Given the description of an element on the screen output the (x, y) to click on. 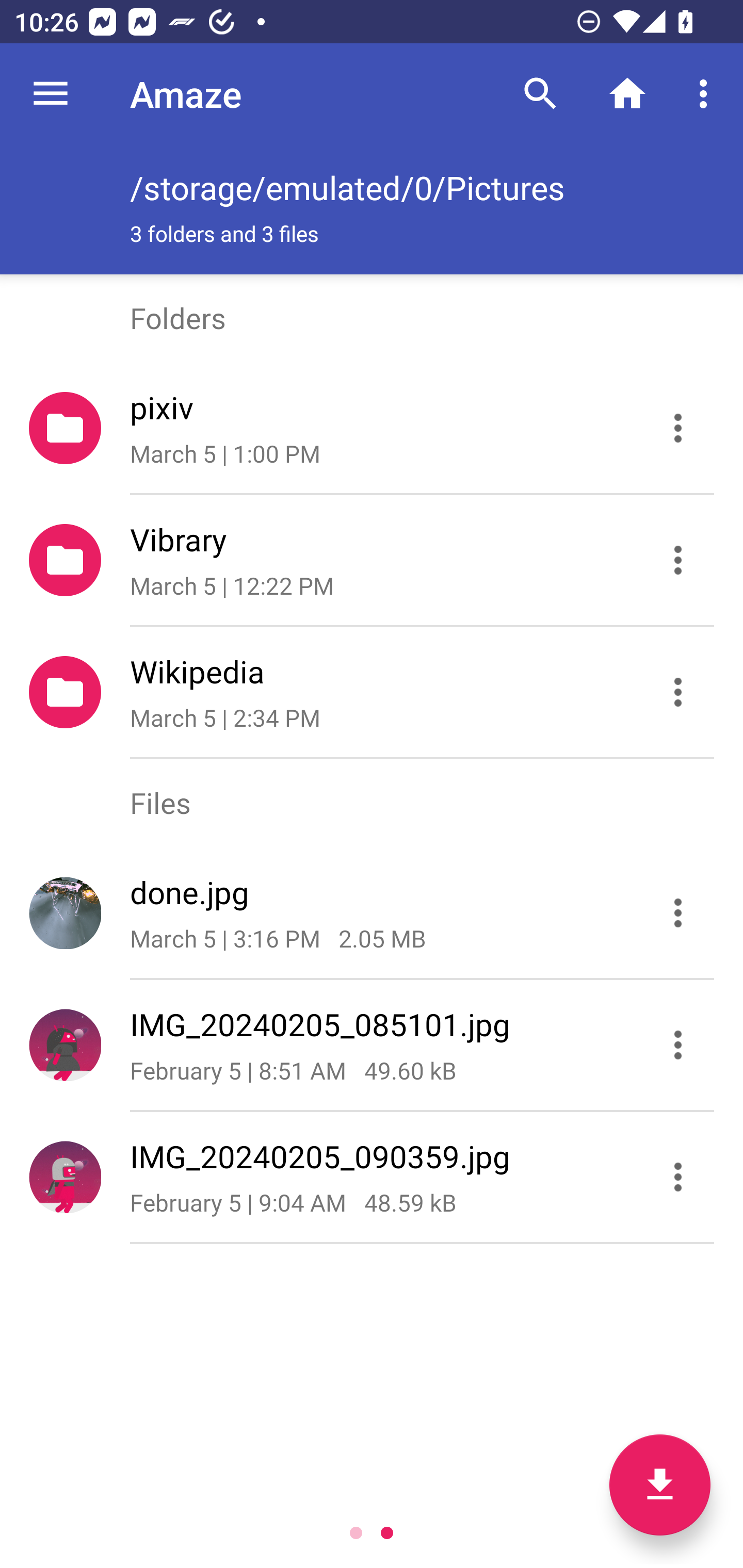
Navigate up (50, 93)
Search (540, 93)
Home (626, 93)
More options (706, 93)
pixiv March 5 | 1:00 PM (371, 427)
Vibrary March 5 | 12:22 PM (371, 560)
Wikipedia March 5 | 2:34 PM (371, 692)
icon done.jpg March 5 | 3:16 PM 2.05 MB (371, 913)
icon (64, 912)
icon (64, 1044)
icon (64, 1177)
